Given the description of an element on the screen output the (x, y) to click on. 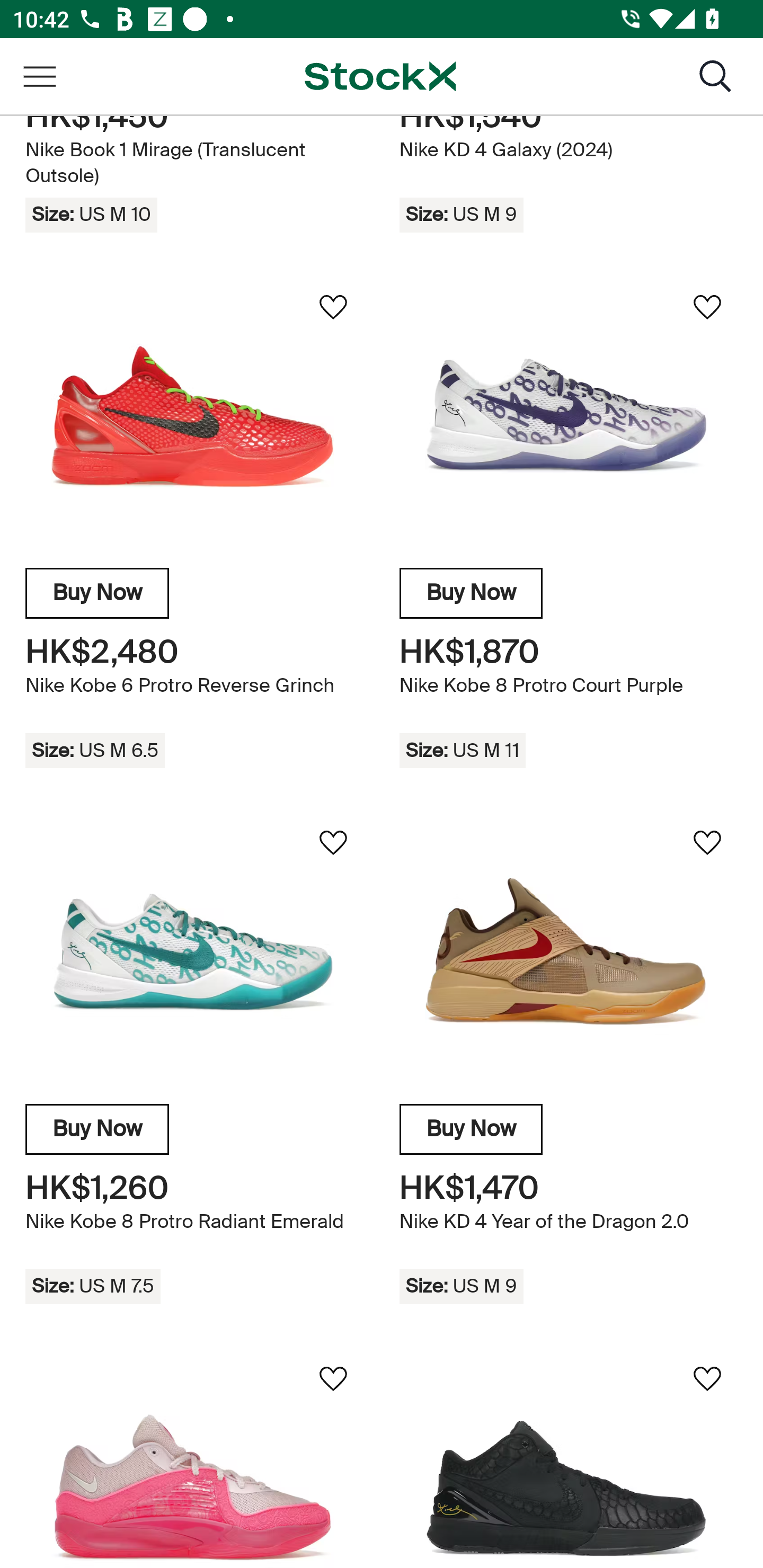
Toggle Navigation (39, 77)
StockX Logo (379, 77)
nike-kobe-6-protro-reverse-grinch?size=6 (194, 417)
nike-kobe-8-protro-court-purple?size=11 (568, 417)
Buy Now (97, 594)
Buy Now (471, 594)
nike-kobe-8-protro-radiant-emerald?size=7 (194, 952)
nike-kd-4-year-of-the-dragon-20?size=9 (568, 952)
Buy Now (97, 1130)
Buy Now (471, 1130)
nike-kd-16-aunt-pearl?size=9 (194, 1458)
nike-kobe-4-protro-gift-of-mamba?size=10 (568, 1458)
